Given the description of an element on the screen output the (x, y) to click on. 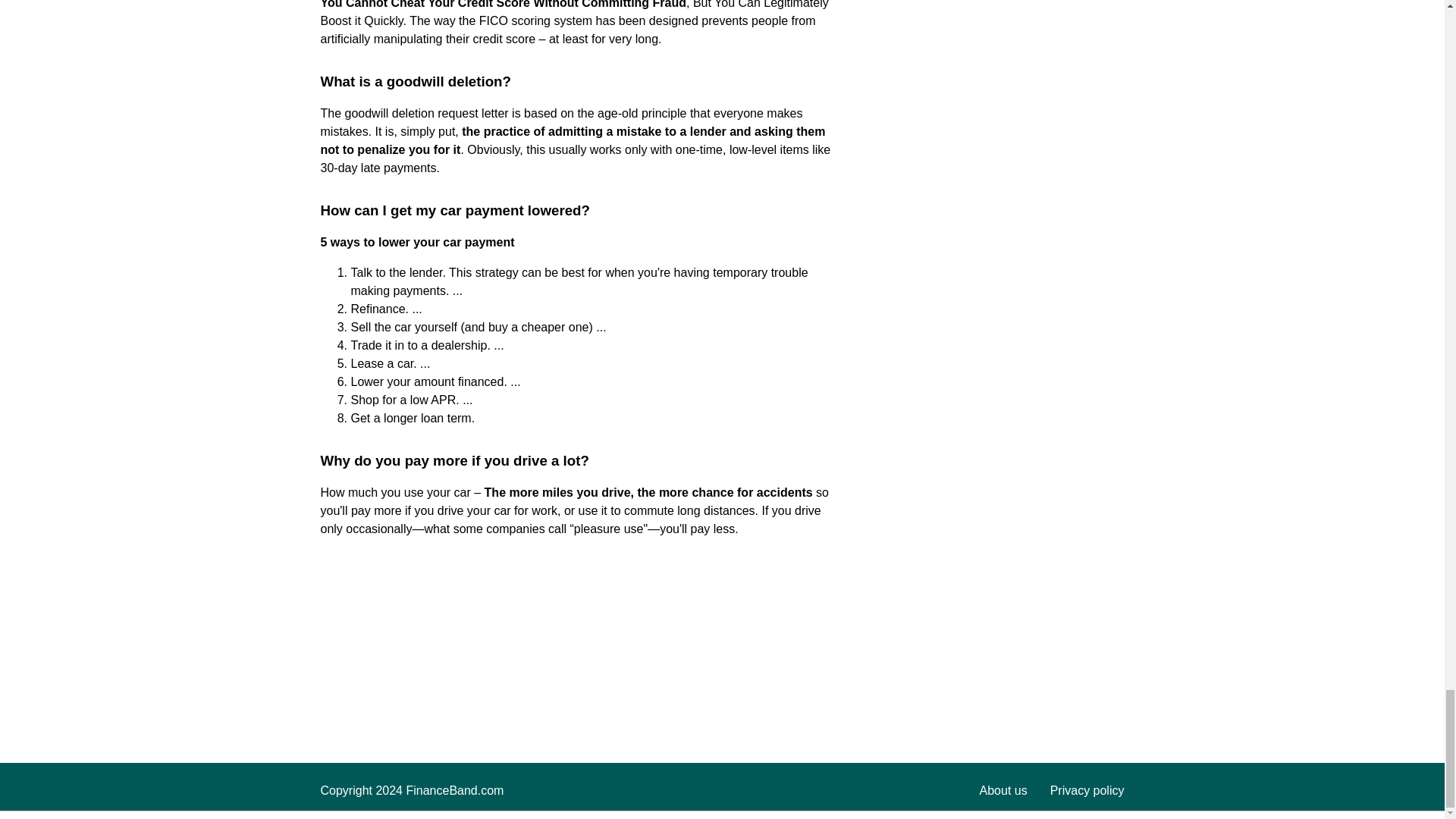
About us (1003, 790)
